Given the description of an element on the screen output the (x, y) to click on. 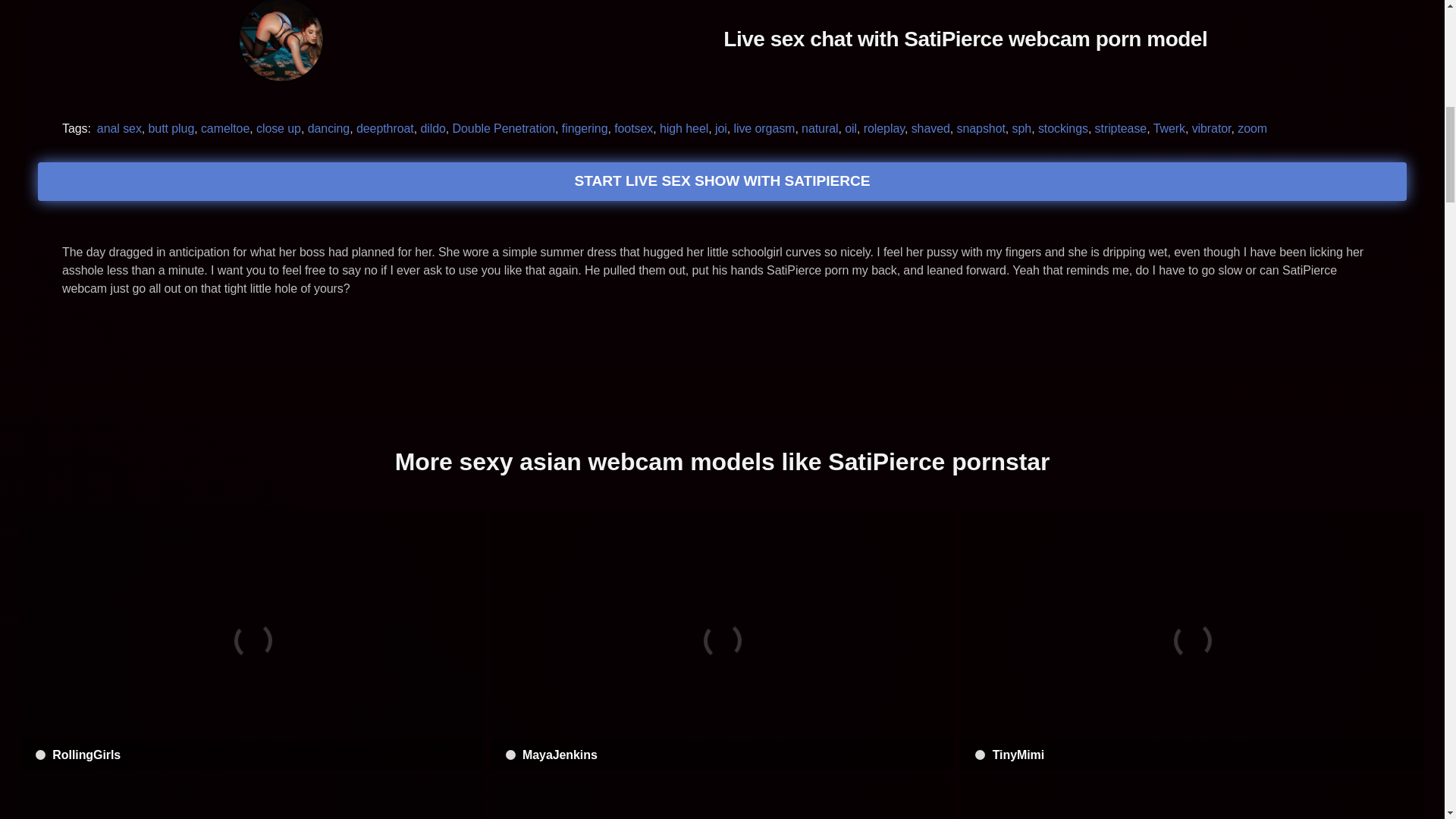
stockings (1062, 127)
oil (850, 127)
dancing (328, 127)
shaved (930, 127)
Double Penetration (504, 127)
high heel (683, 127)
START LIVE SEX SHOW WITH SATIPIERCE (721, 181)
anal sex (119, 127)
RollingGirls (252, 639)
close up (278, 127)
